Given the description of an element on the screen output the (x, y) to click on. 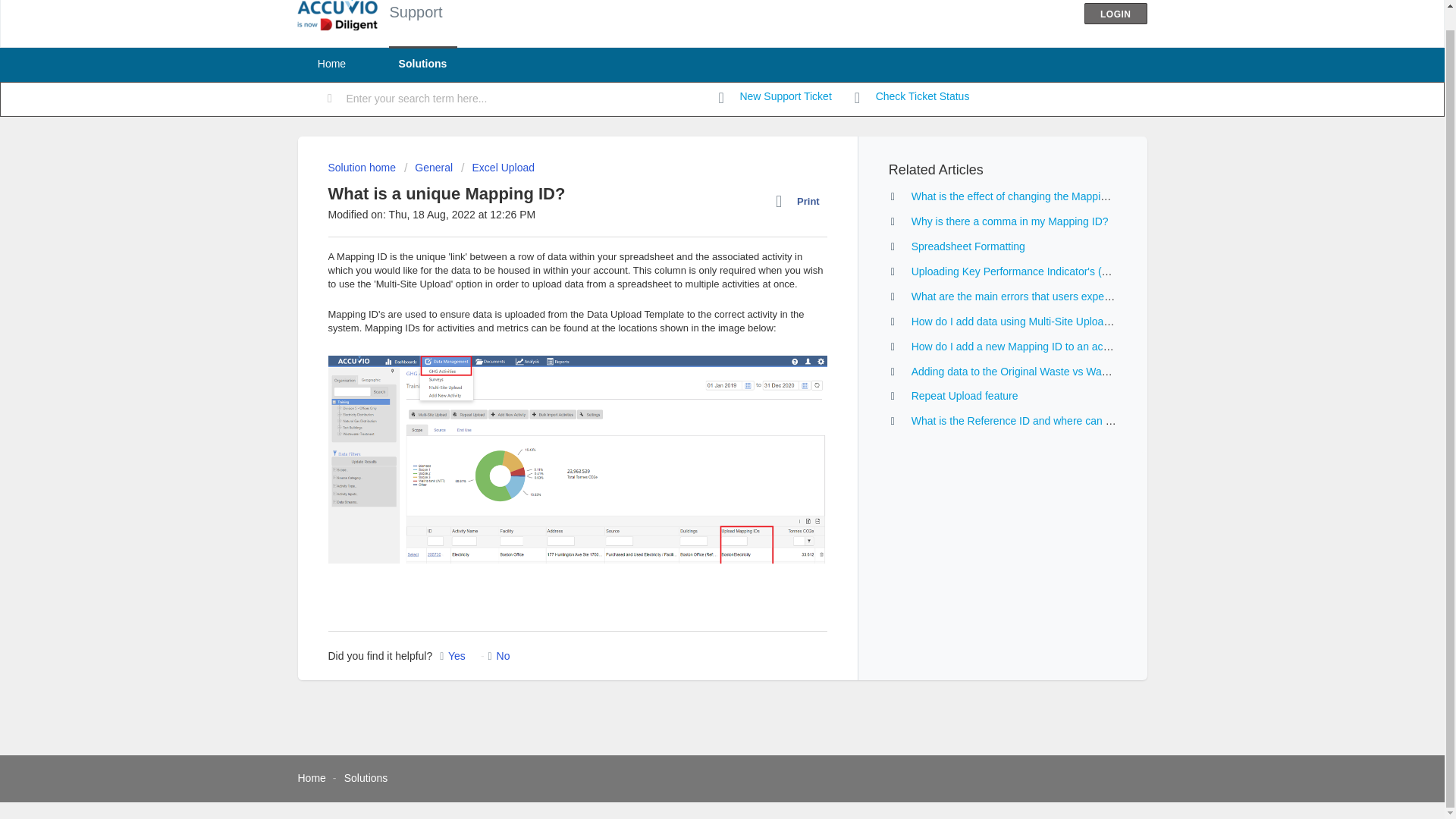
General (428, 167)
Solutions (422, 63)
Print this Article (801, 201)
Home (310, 777)
Home (331, 63)
Print (801, 201)
What is the effect of changing the Mapping ID? (1021, 196)
Spreadsheet Formatting (968, 246)
Check ticket status (911, 96)
Repeat Upload feature (964, 395)
